Given the description of an element on the screen output the (x, y) to click on. 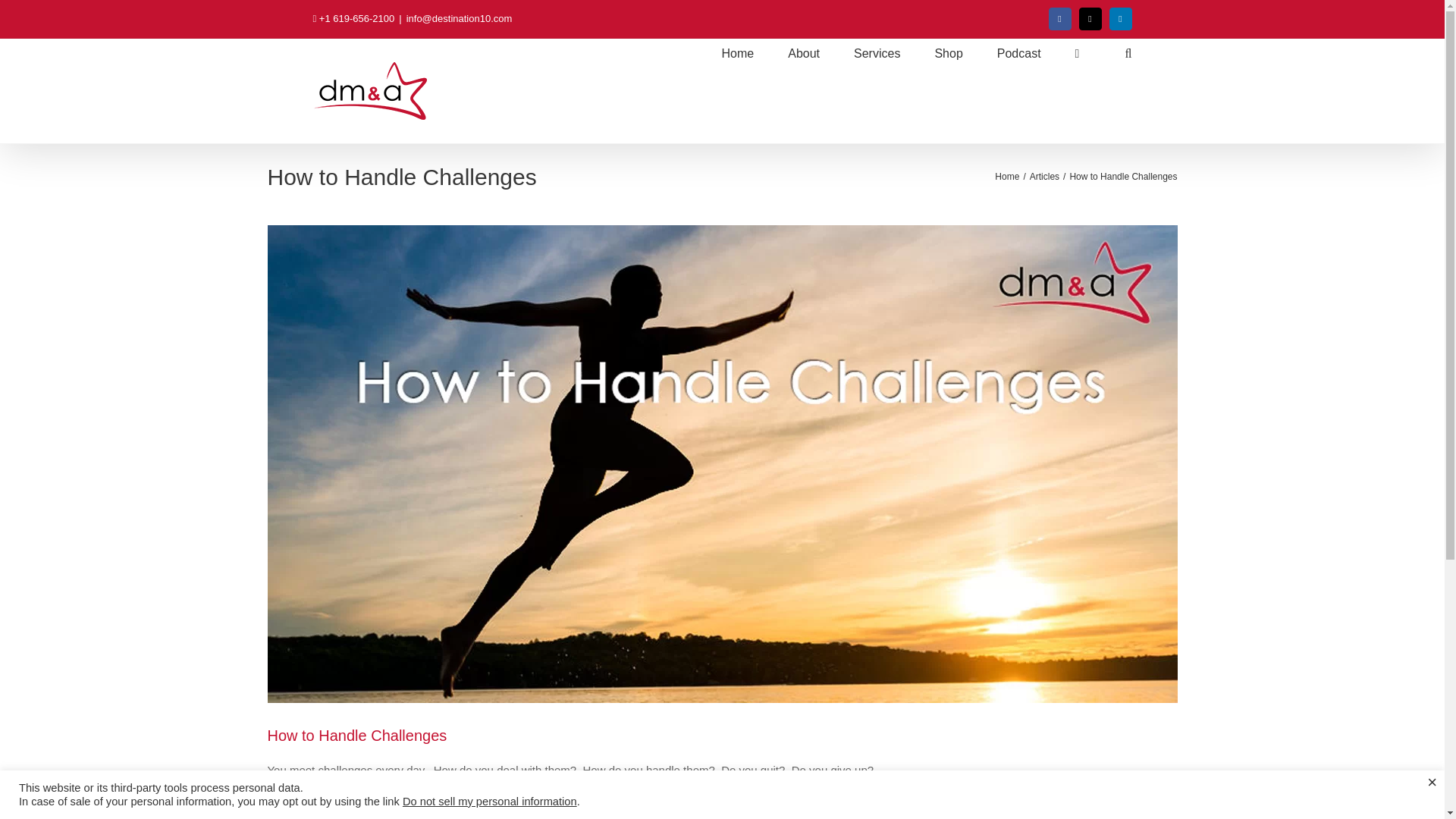
LinkedIn (1120, 18)
Home (738, 53)
Facebook (1059, 18)
X (1090, 18)
About (803, 53)
Services (876, 53)
